Given the description of an element on the screen output the (x, y) to click on. 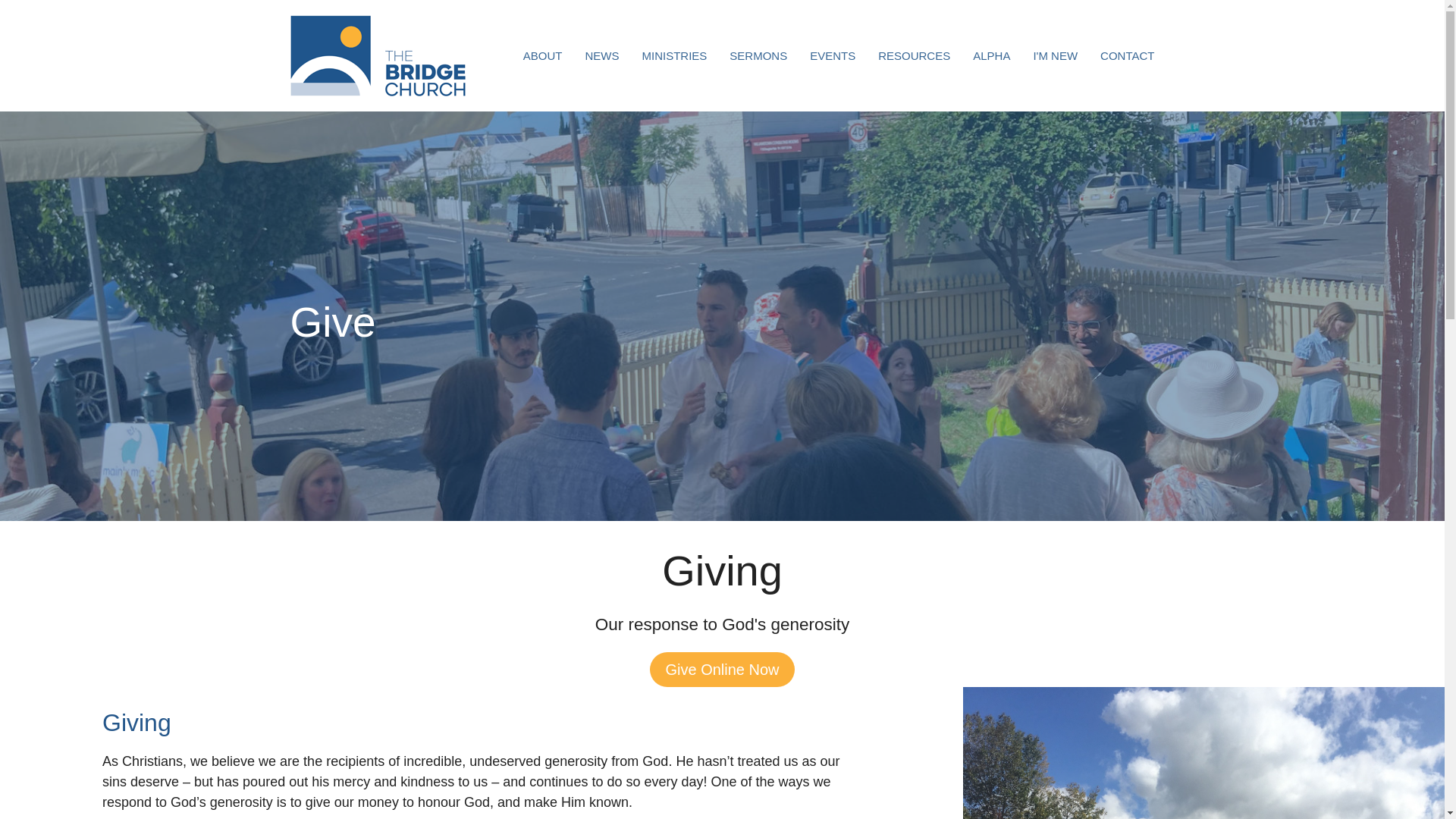
I'M NEW (1054, 55)
EVENTS (832, 55)
ALPHA (991, 55)
ABOUT (542, 55)
Give Online Now (721, 669)
RESOURCES (913, 55)
NEWS (601, 55)
MINISTRIES (674, 55)
SERMONS (758, 55)
CONTACT (1127, 55)
